Given the description of an element on the screen output the (x, y) to click on. 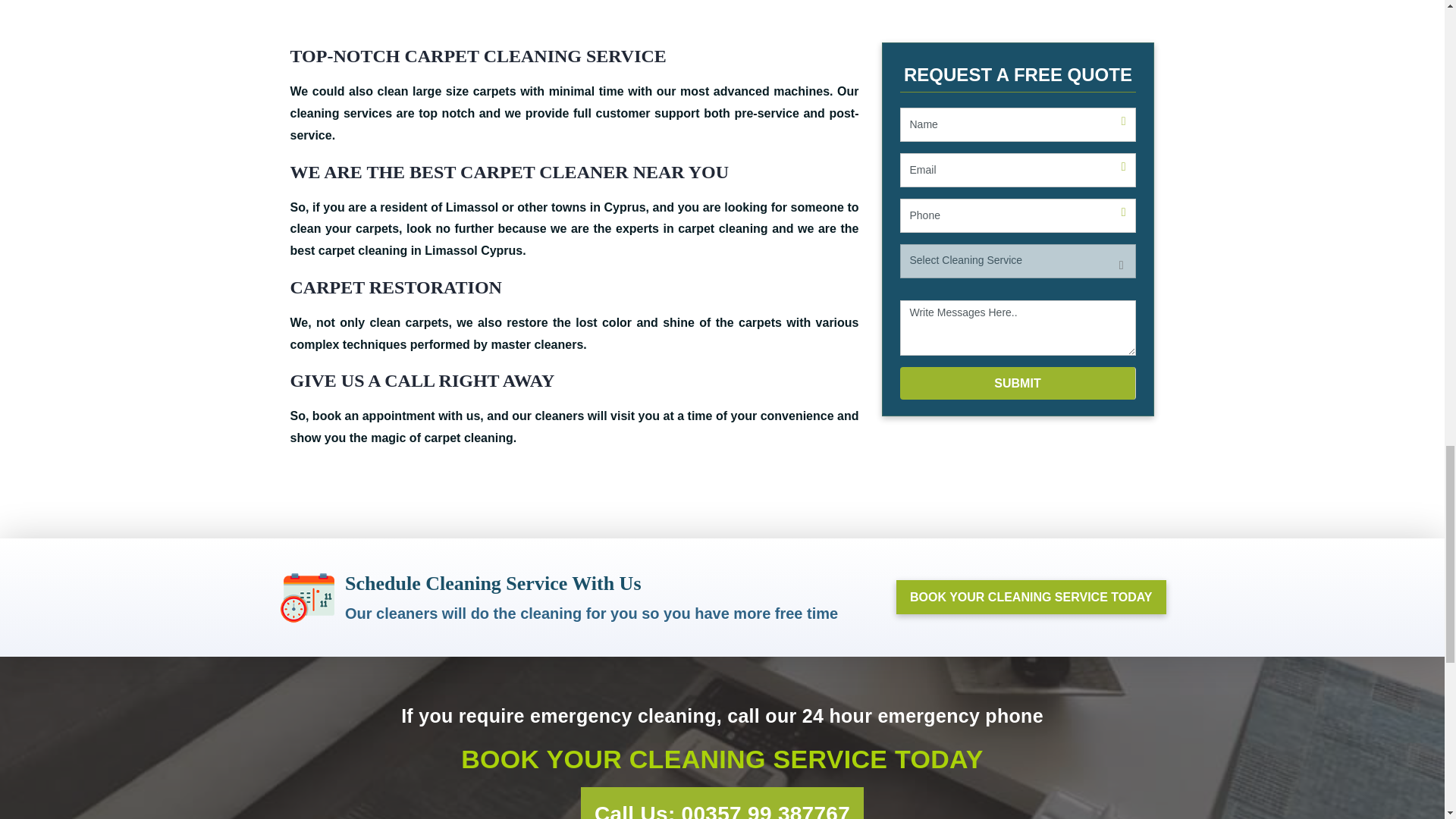
BOOK YOUR CLEANING SERVICE TODAY (1031, 596)
SUBMIT (1017, 382)
